Given the description of an element on the screen output the (x, y) to click on. 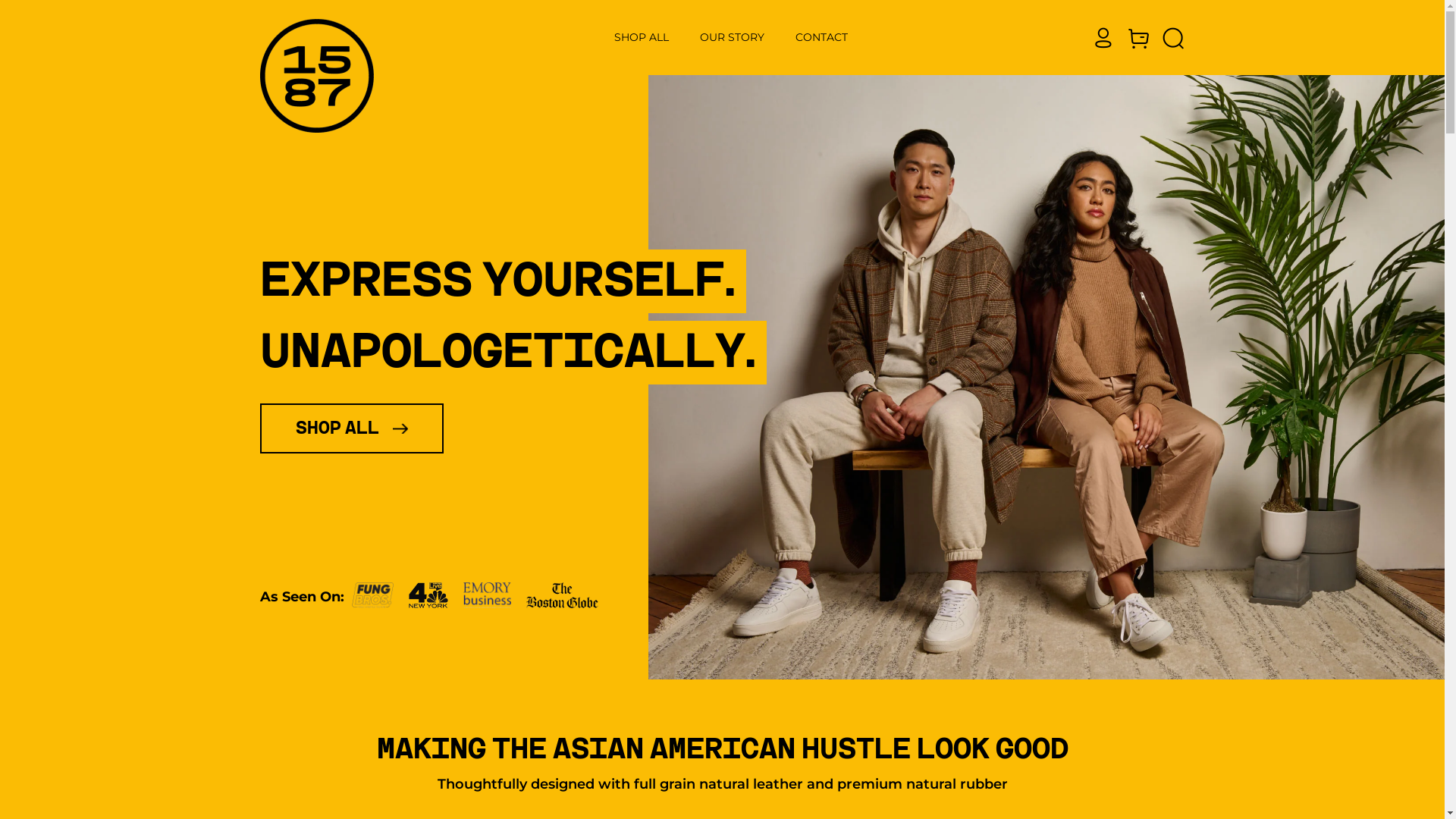
SHOP ALL Element type: text (641, 37)
Cart Element type: text (1137, 37)
CONTACT Element type: text (822, 37)
OUR STORY Element type: text (732, 37)
SHOP ALL Element type: text (350, 428)
